Given the description of an element on the screen output the (x, y) to click on. 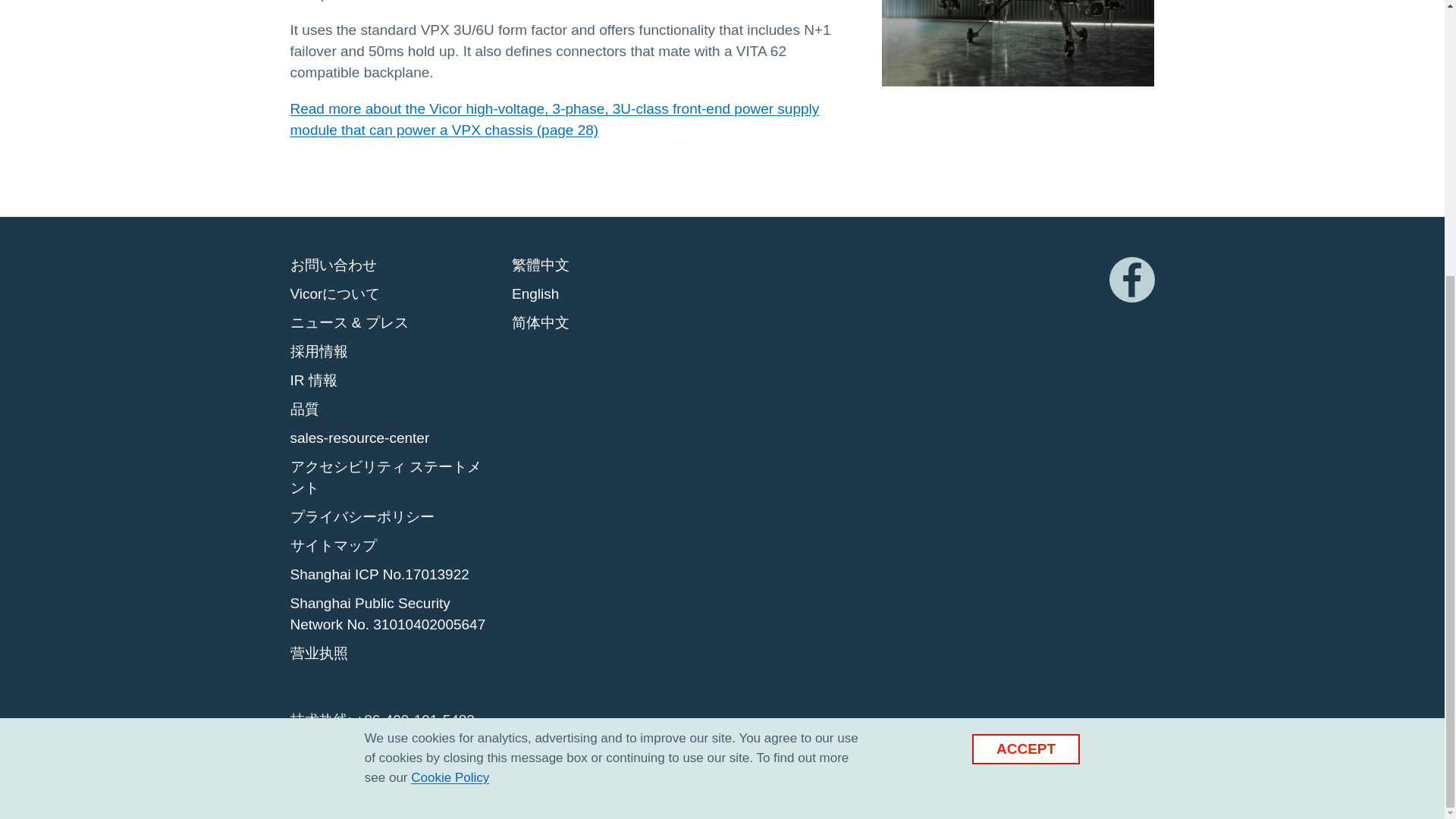
Switch to (540, 322)
Switch to (535, 293)
Privacy Policy (449, 369)
Switch to (540, 264)
